Given the description of an element on the screen output the (x, y) to click on. 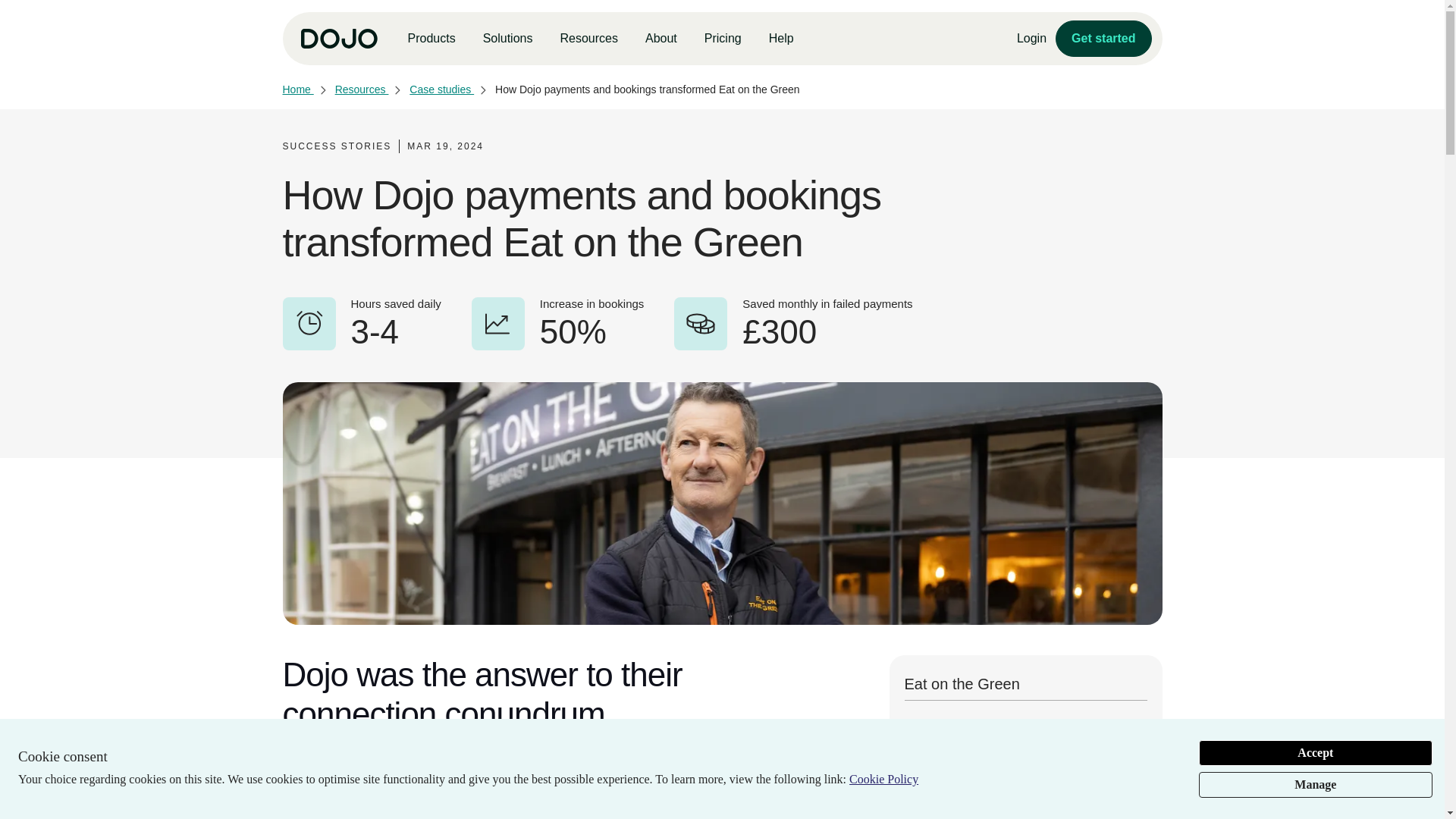
Products (431, 38)
Manage (1315, 784)
Resources (588, 38)
Solutions (507, 38)
Accept (1315, 752)
Cookie Policy (883, 779)
